Given the description of an element on the screen output the (x, y) to click on. 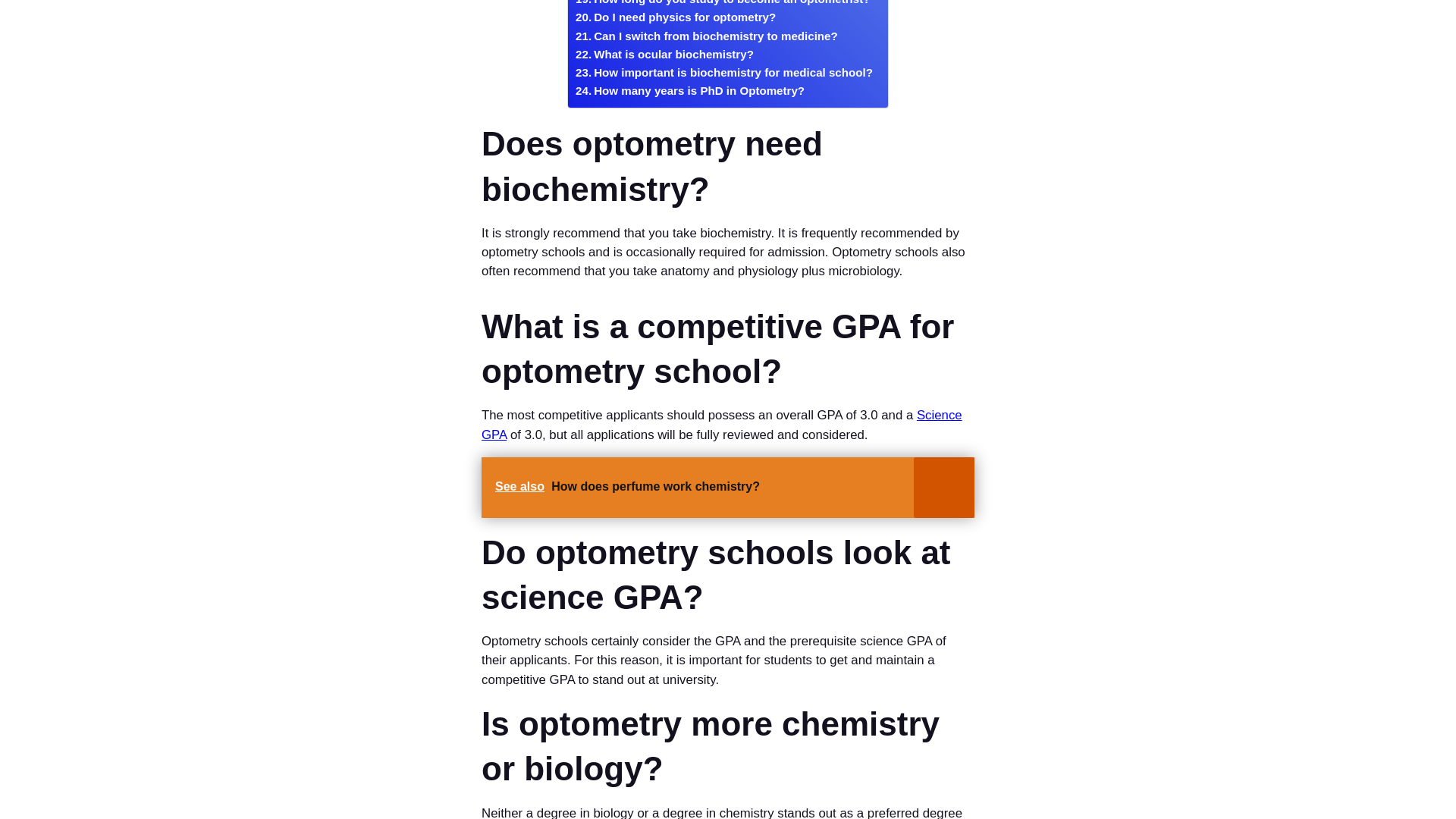
What is ocular biochemistry? (664, 54)
See also  How does perfume work chemistry? (727, 487)
How important is biochemistry for medical school? (723, 72)
Do I need physics for optometry? (675, 17)
How long do you study to become an optometrist? (722, 4)
Science GPA (721, 424)
How many years is PhD in Optometry? (690, 90)
Can I switch from biochemistry to medicine? (706, 36)
